Given the description of an element on the screen output the (x, y) to click on. 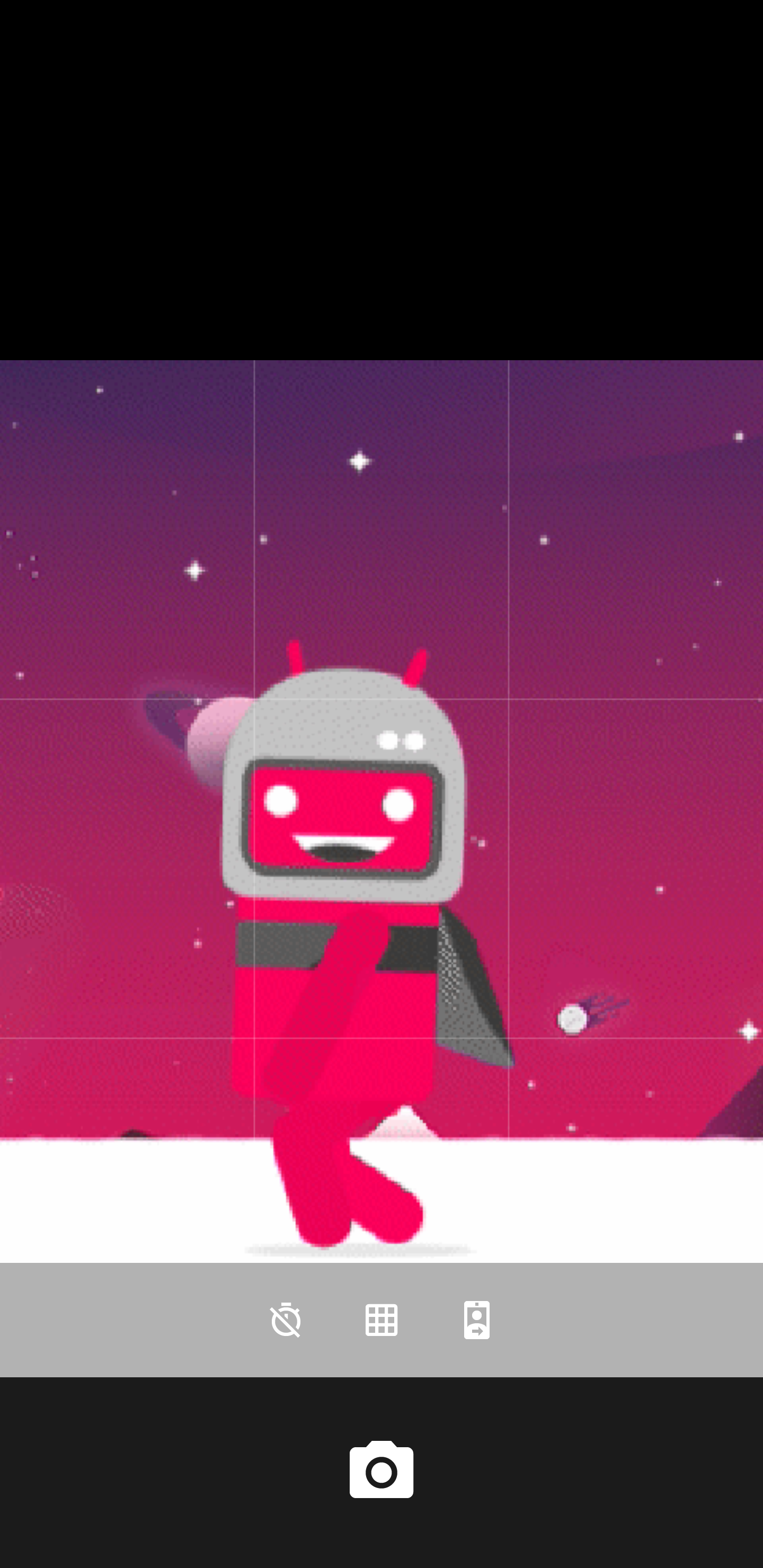
Countdown timer is off (285, 1319)
Grid lines on (381, 1319)
Front camera (476, 1319)
Shutter (381, 1472)
